Given the description of an element on the screen output the (x, y) to click on. 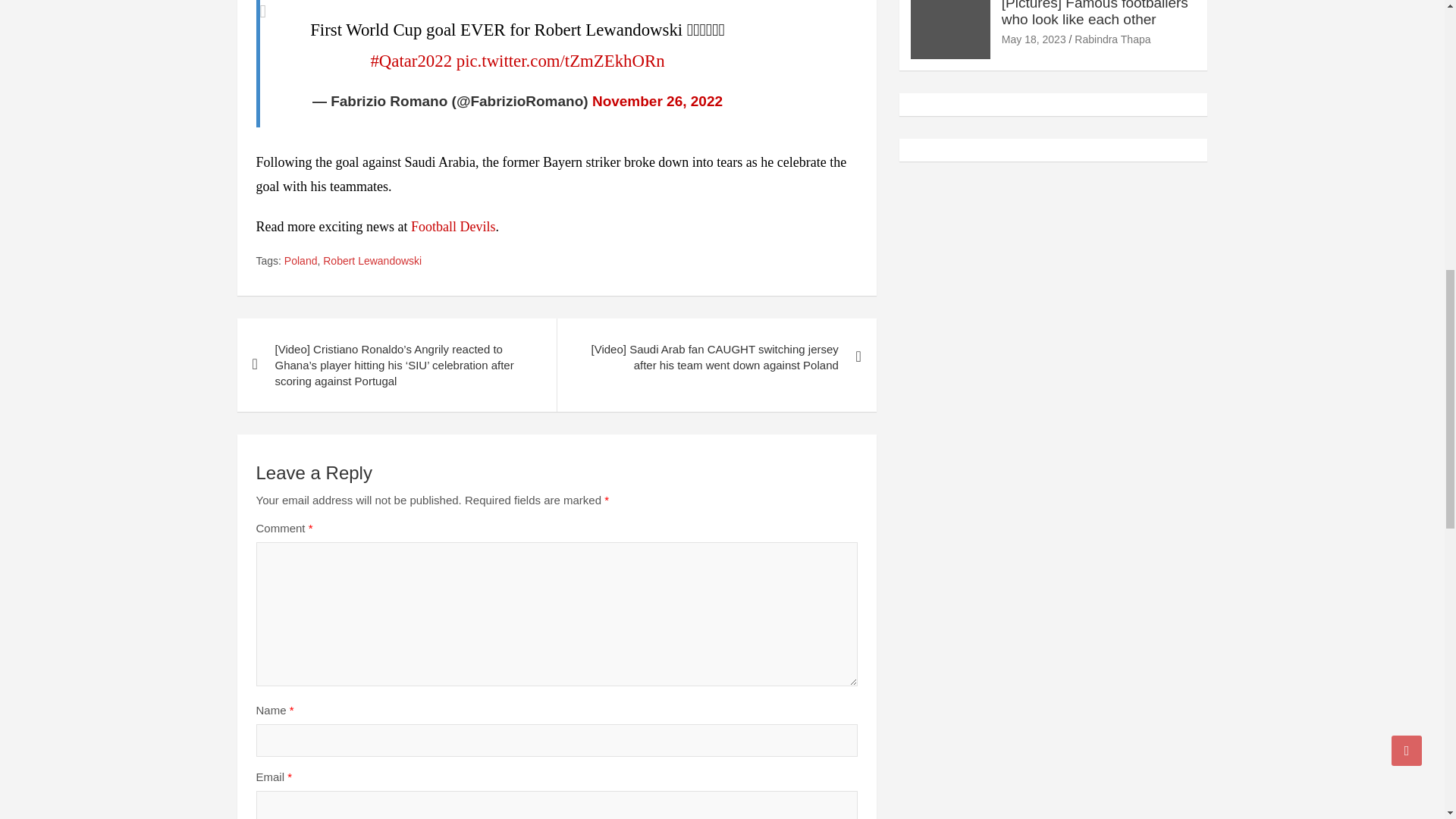
Robert Lewandowski (372, 261)
Football Devils (453, 226)
November 26, 2022 (657, 100)
Poland (300, 261)
